Given the description of an element on the screen output the (x, y) to click on. 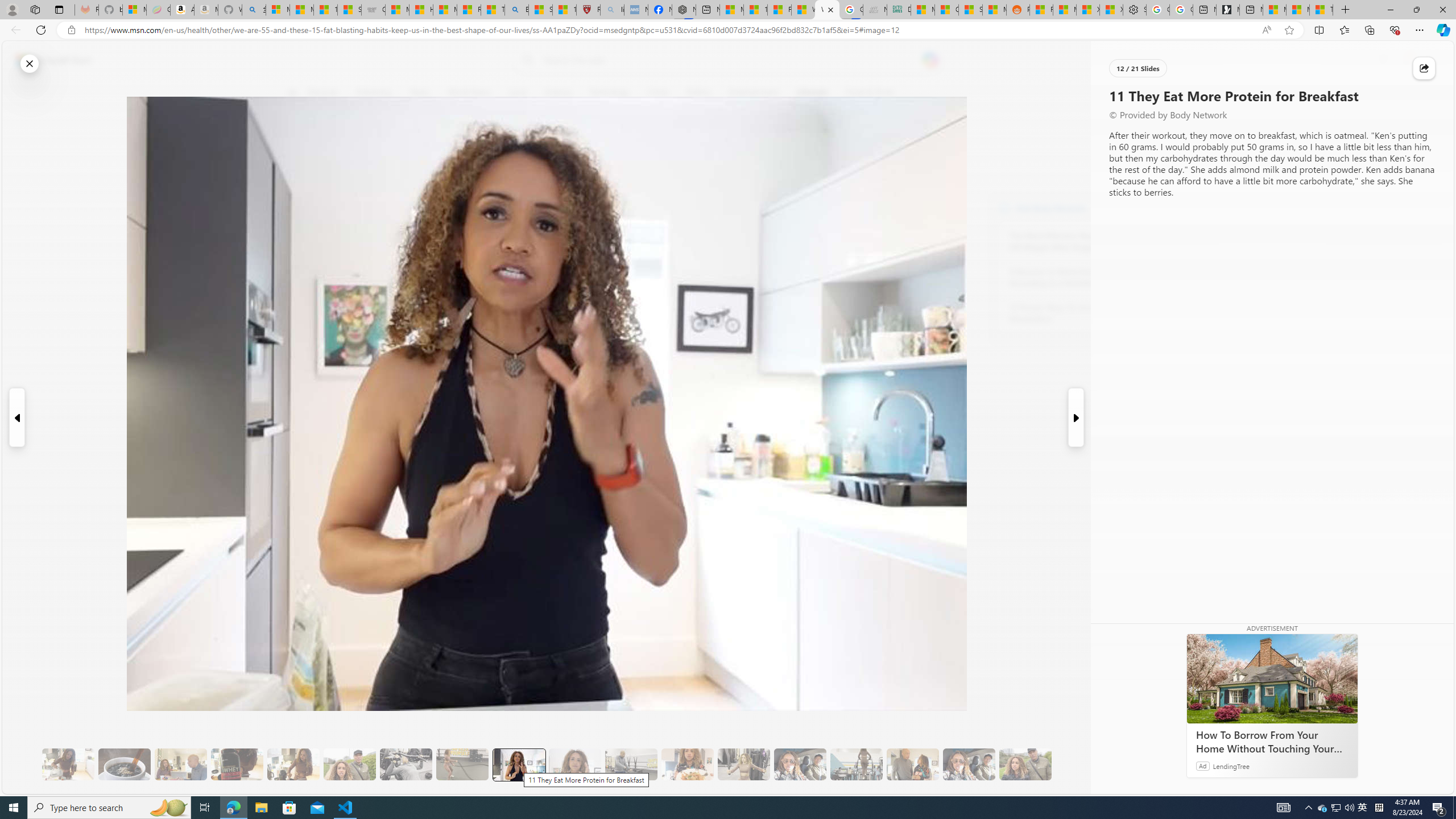
8 They Walk to the Gym (349, 764)
8 They Walk to the Gym (349, 764)
Visit Body Network website (1145, 207)
12 Proven Ways To Increase Your Metabolism (1071, 313)
15 They Also Indulge in a Low-Calorie Sweet Treat (743, 764)
